Given the description of an element on the screen output the (x, y) to click on. 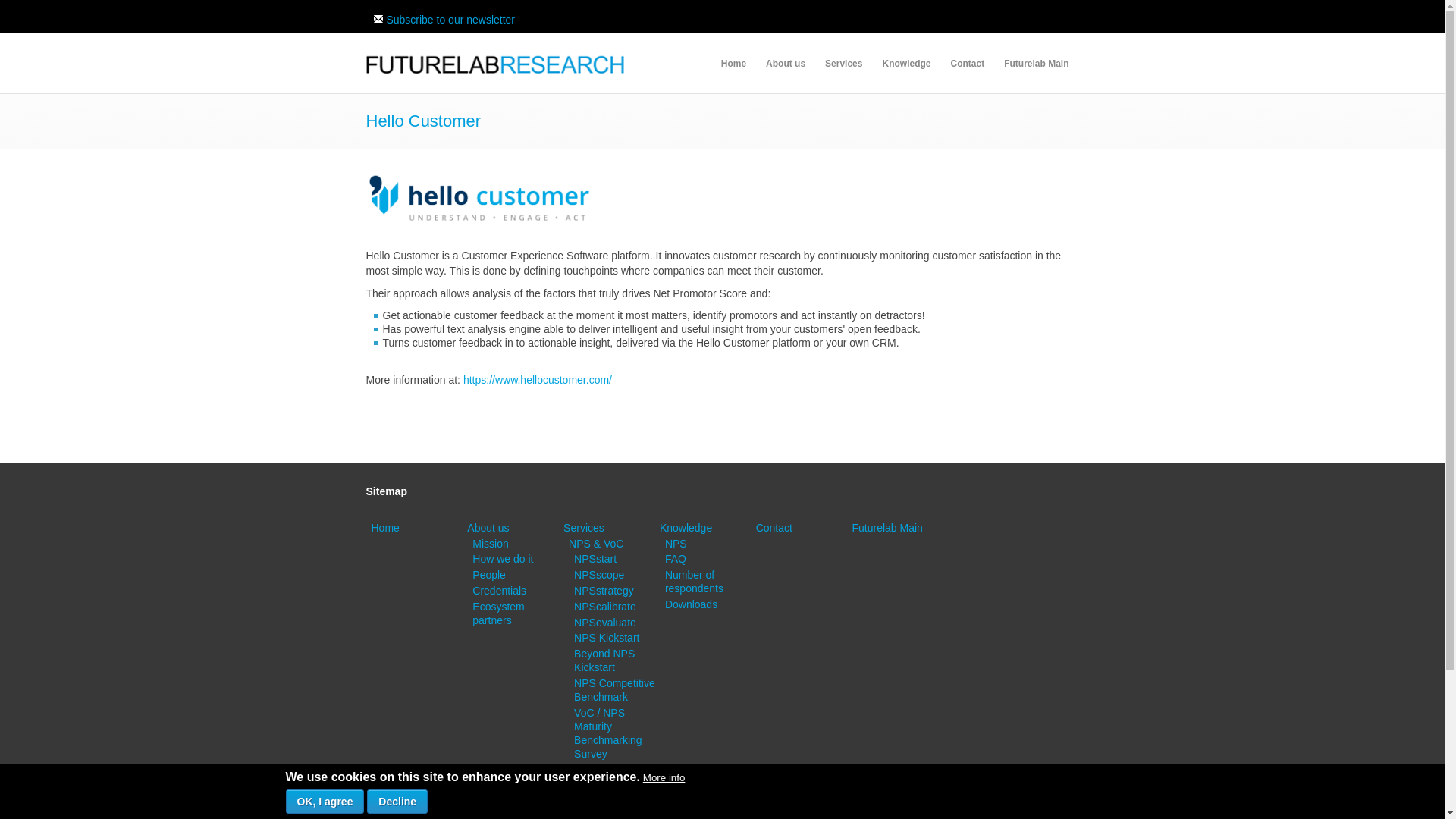
Subscribe to our newsletter (443, 19)
Home (733, 63)
Contact (966, 63)
Mission (489, 543)
How we do it (501, 558)
About us (785, 63)
Futurelab Main (1035, 63)
About us (487, 527)
Services (842, 63)
Our mission (489, 543)
People (488, 574)
How many responses do I need? (694, 581)
Home (384, 527)
Knowledge (906, 63)
